Given the description of an element on the screen output the (x, y) to click on. 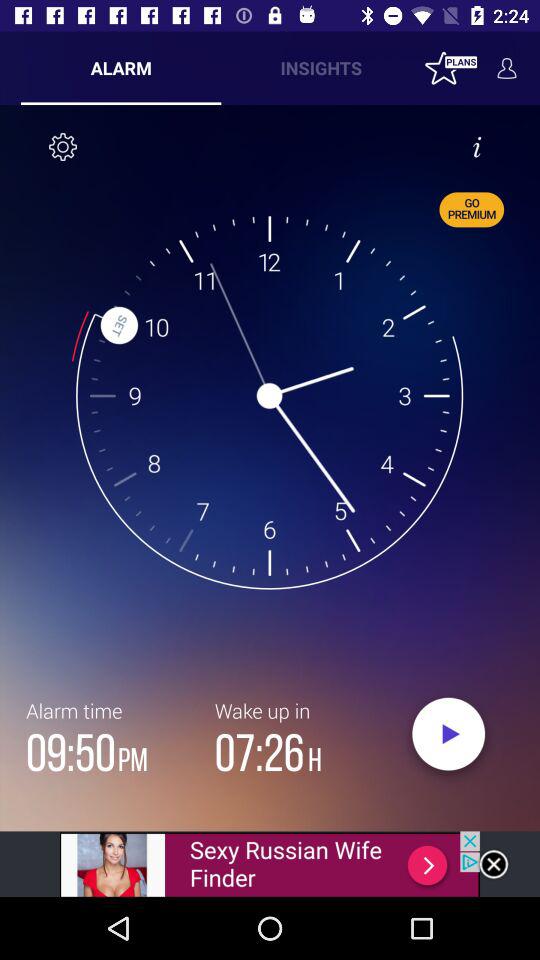
advertising bar (270, 864)
